Given the description of an element on the screen output the (x, y) to click on. 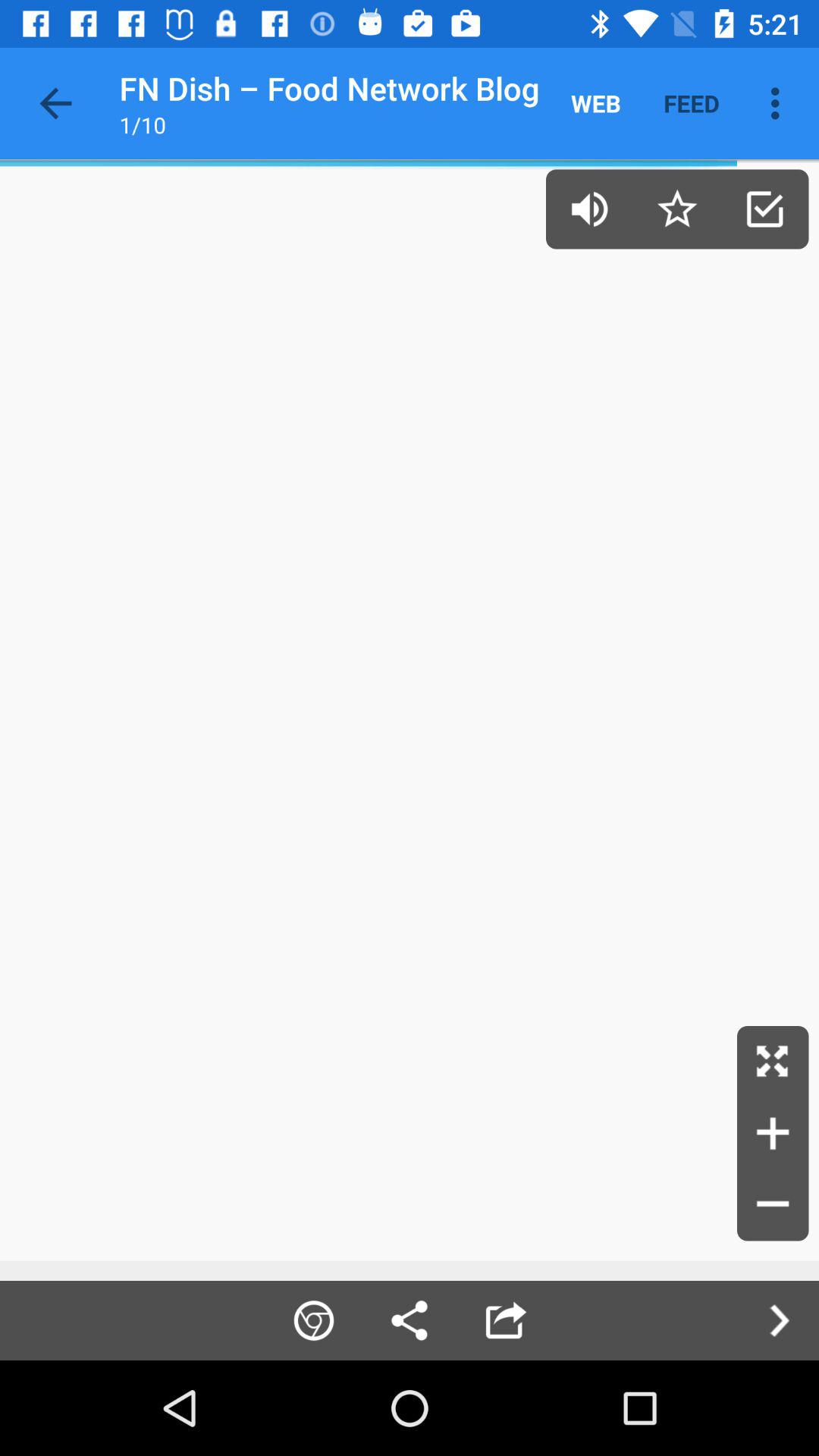
turn on feed (691, 103)
